Given the description of an element on the screen output the (x, y) to click on. 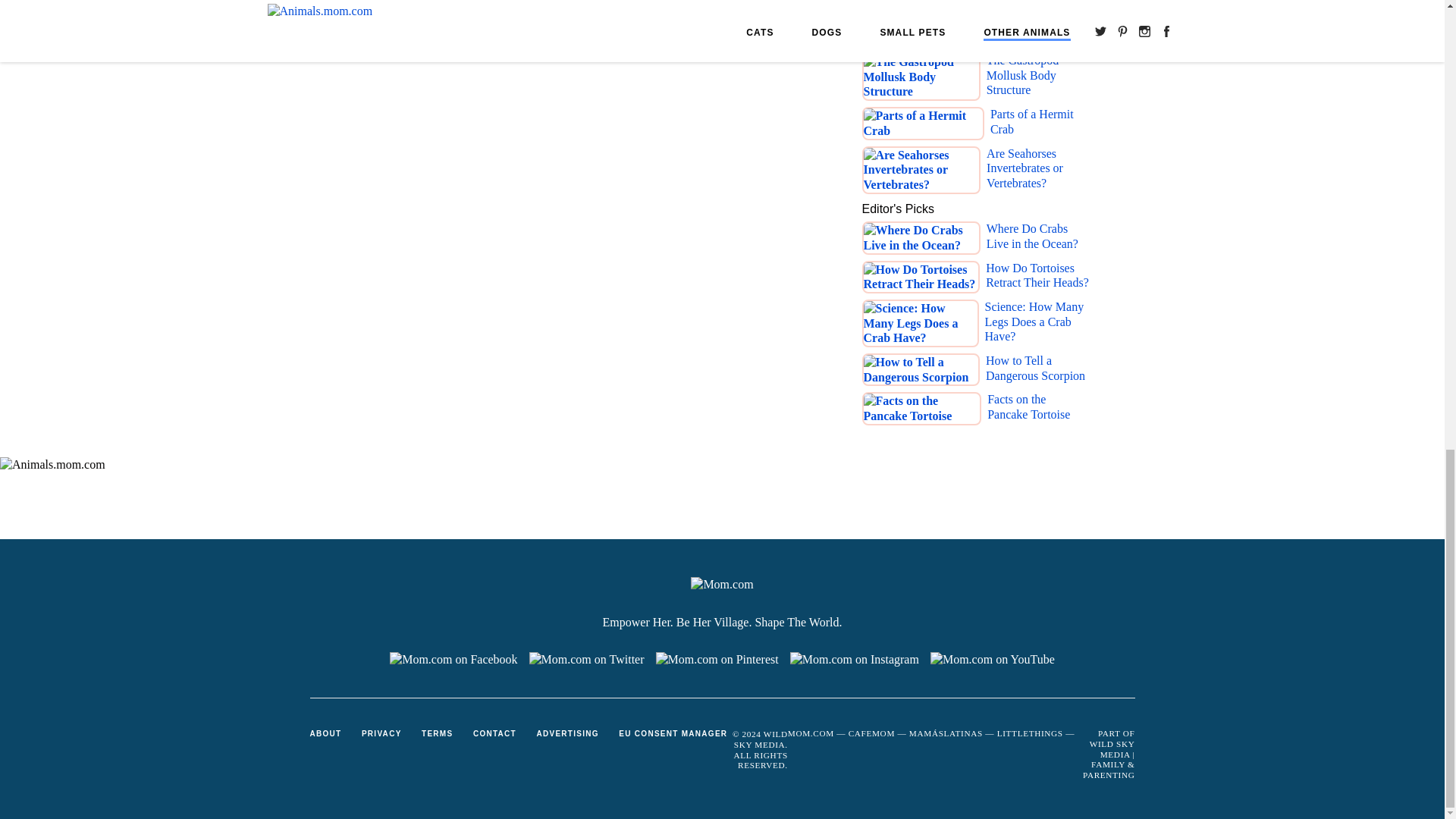
Are Spiders Vertebrates or Invertebrates? (530, 24)
What Kind of Spiders Do Mud Daubers Eat? (781, 24)
